Given the description of an element on the screen output the (x, y) to click on. 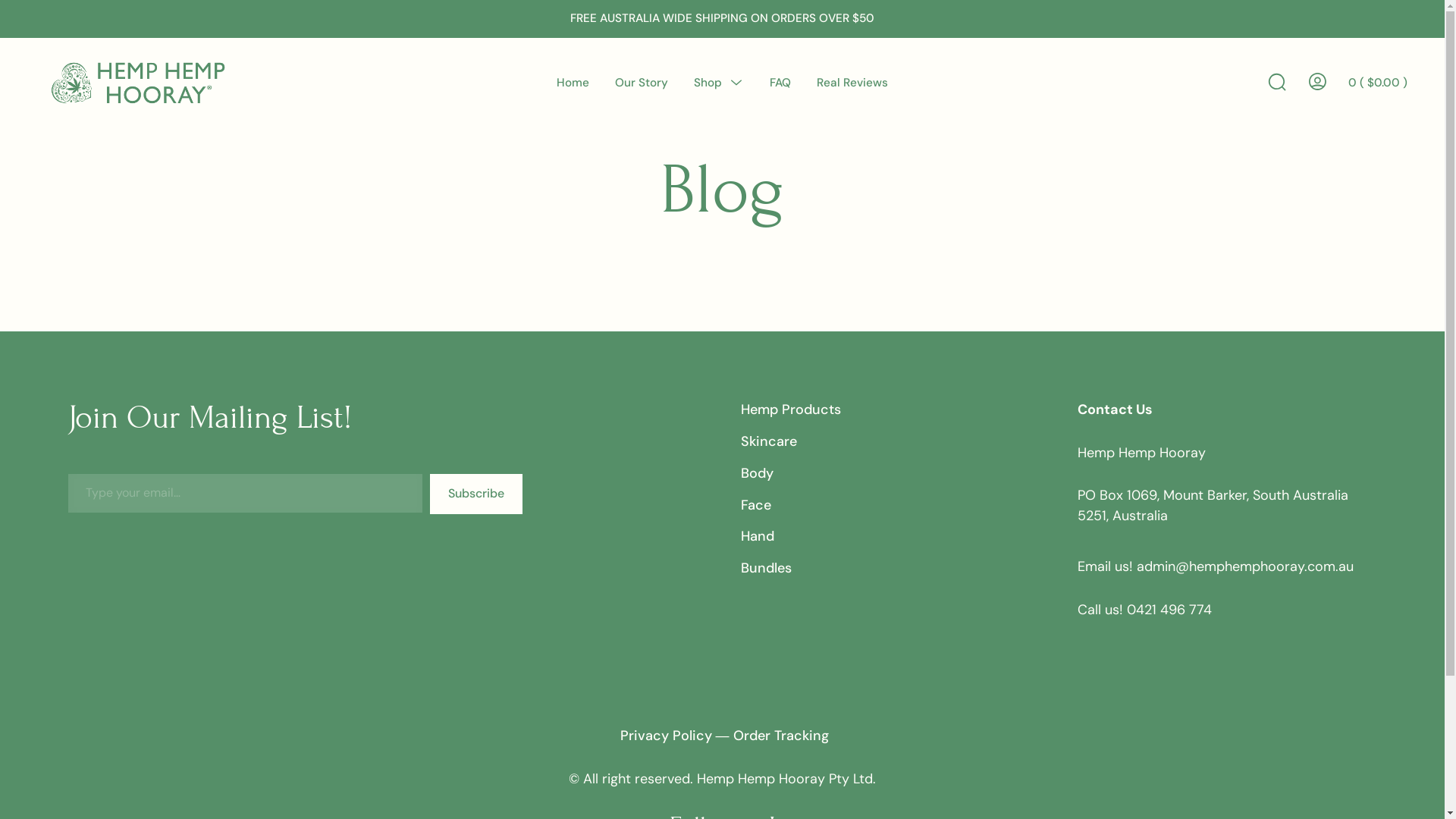
Search Element type: text (1276, 81)
Bundles Element type: text (765, 567)
0 ( $0.00 ) Element type: text (1377, 83)
Real Reviews Element type: text (852, 82)
Our Story Element type: text (641, 82)
Hand Element type: text (757, 536)
Subscribe Element type: text (475, 493)
Order Tracking Element type: text (780, 735)
Body Element type: text (756, 473)
Go To My Account Element type: text (1316, 82)
Shop Element type: text (707, 82)
Face Element type: text (755, 504)
Menu Toggle Element type: text (735, 81)
Skincare Element type: text (768, 441)
Go To My Account Element type: text (1316, 81)
FAQ Element type: text (779, 82)
Home Element type: text (572, 82)
Privacy Policy Element type: text (666, 735)
Hemp Products Element type: text (790, 409)
Search Toggle Element type: text (1275, 82)
